Given the description of an element on the screen output the (x, y) to click on. 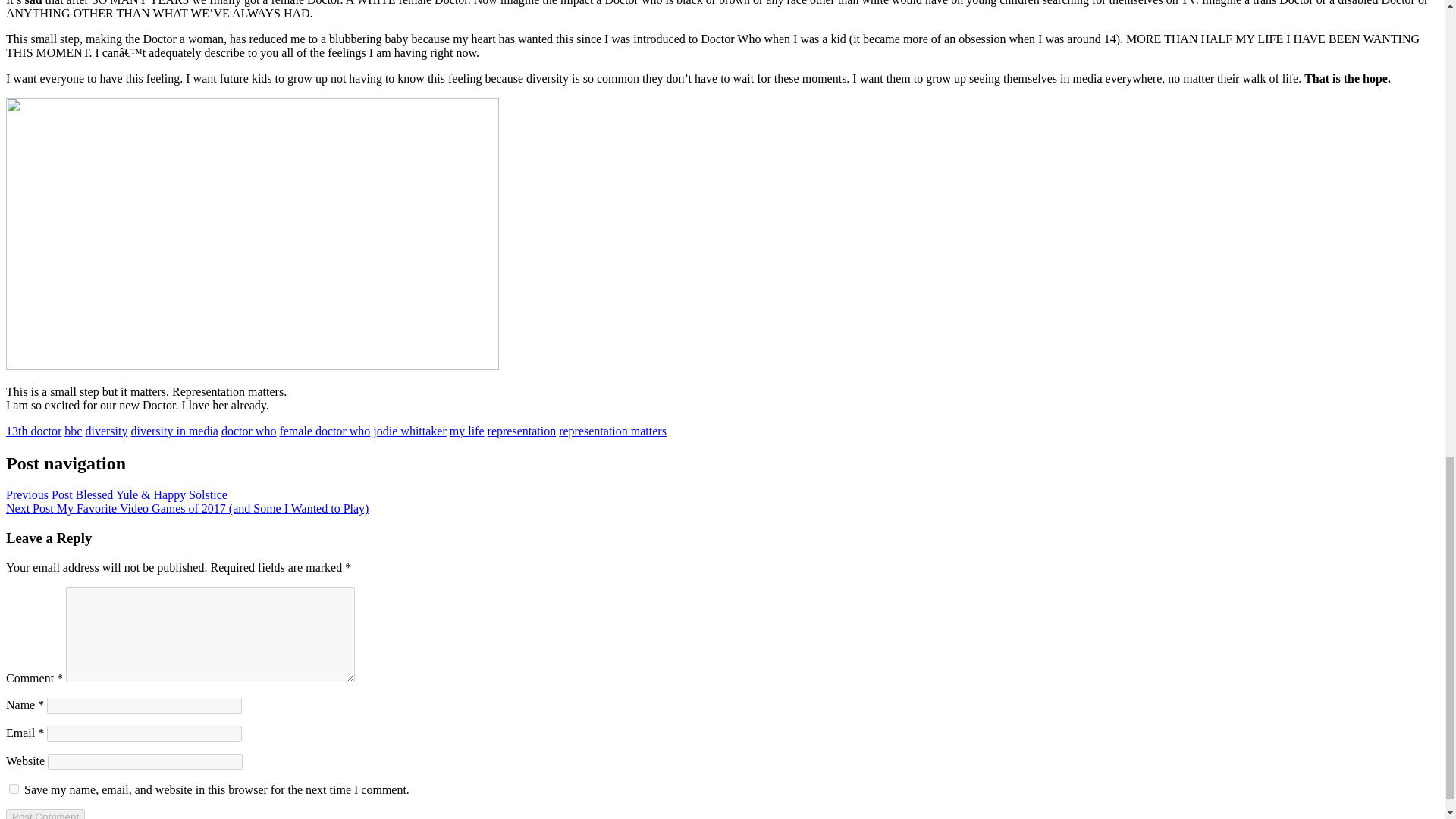
my life (466, 431)
yes (13, 788)
jodie whittaker (408, 431)
diversity in media (174, 431)
bbc (72, 431)
13th doctor (33, 431)
representation matters (612, 431)
female doctor who (324, 431)
diversity (106, 431)
representation (521, 431)
doctor who (248, 431)
